Given the description of an element on the screen output the (x, y) to click on. 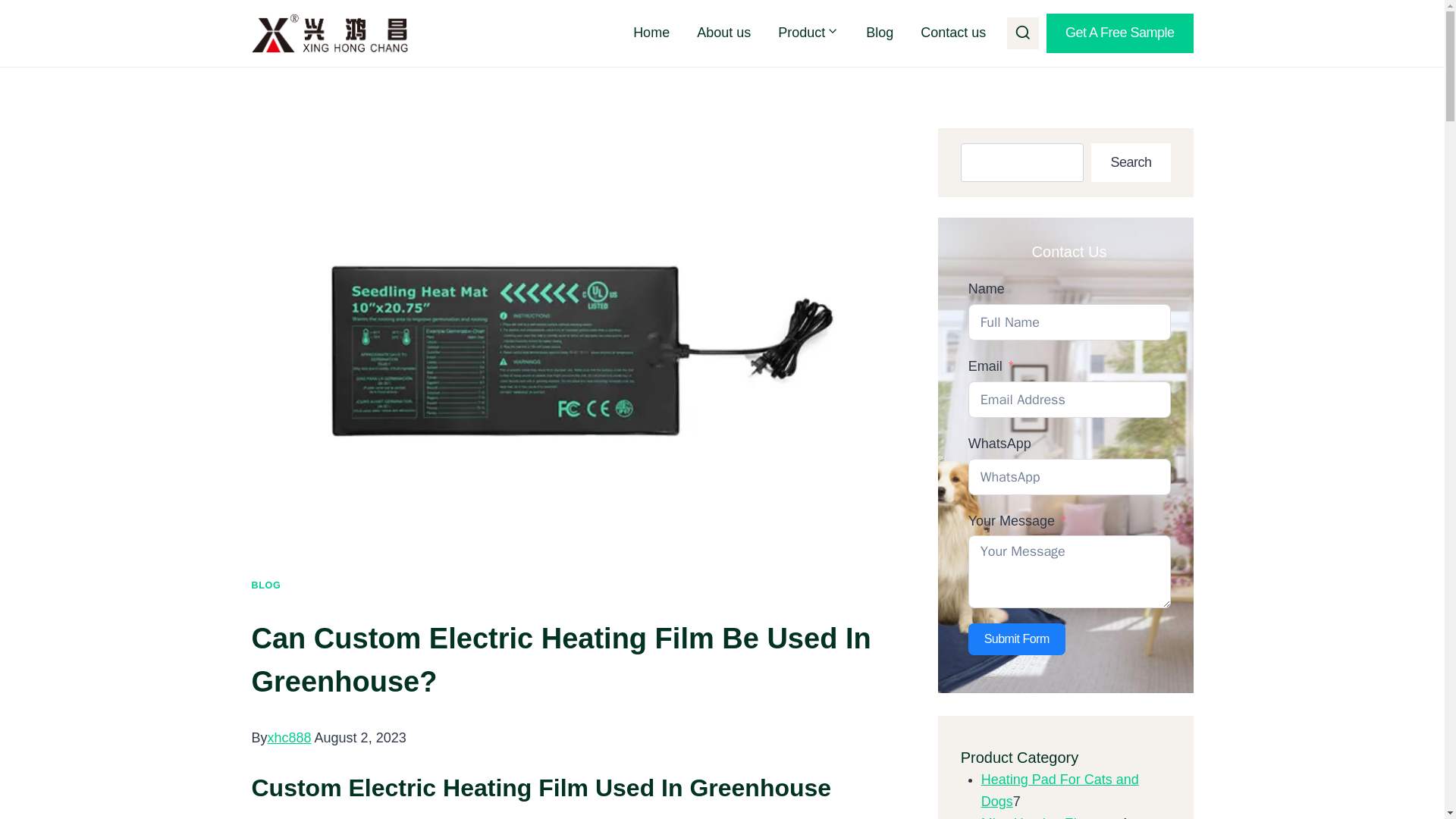
Get A Free Sample (1119, 33)
Home (651, 33)
About us (723, 33)
xhc888 (289, 737)
BLOG (266, 584)
Blog (879, 33)
Contact us (952, 33)
Product (807, 33)
